Given the description of an element on the screen output the (x, y) to click on. 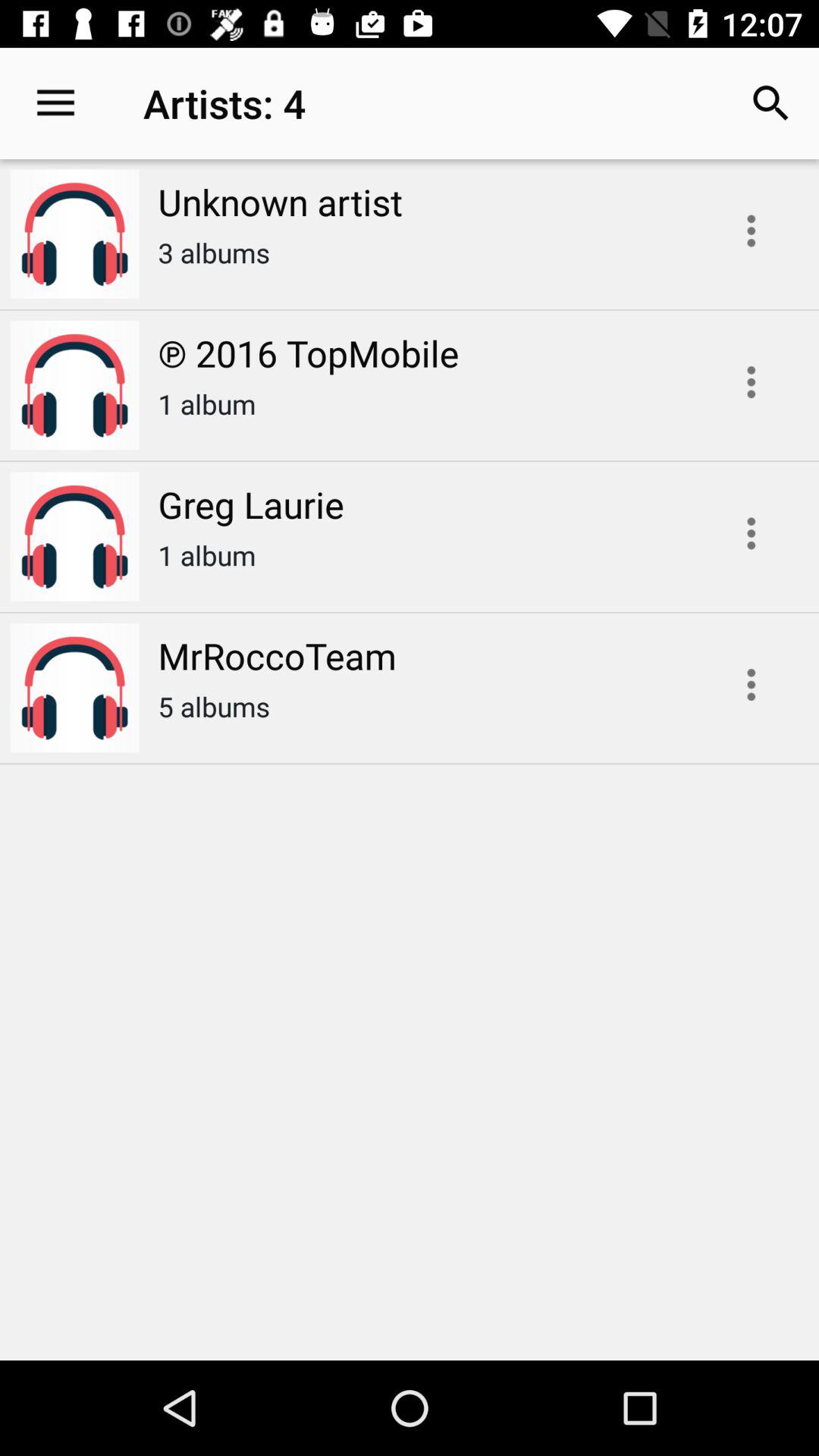
edit artist options (750, 230)
